Given the description of an element on the screen output the (x, y) to click on. 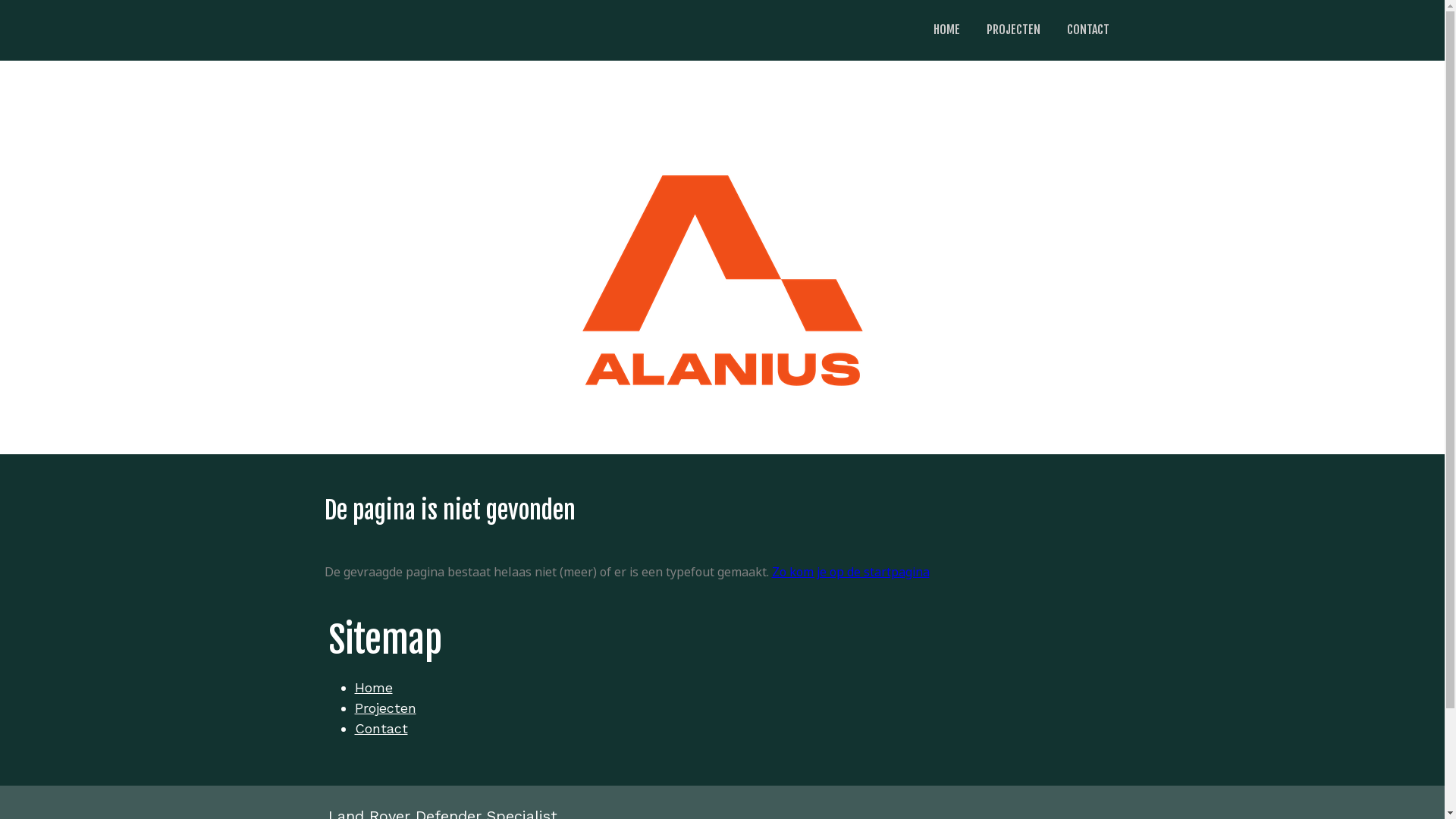
Projecten Element type: text (385, 707)
CONTACT Element type: text (1087, 29)
HOME Element type: text (946, 29)
PROJECTEN Element type: text (1013, 29)
Home Element type: text (373, 687)
Contact Element type: text (380, 728)
Zo kom je op de startpagina Element type: text (850, 571)
